Given the description of an element on the screen output the (x, y) to click on. 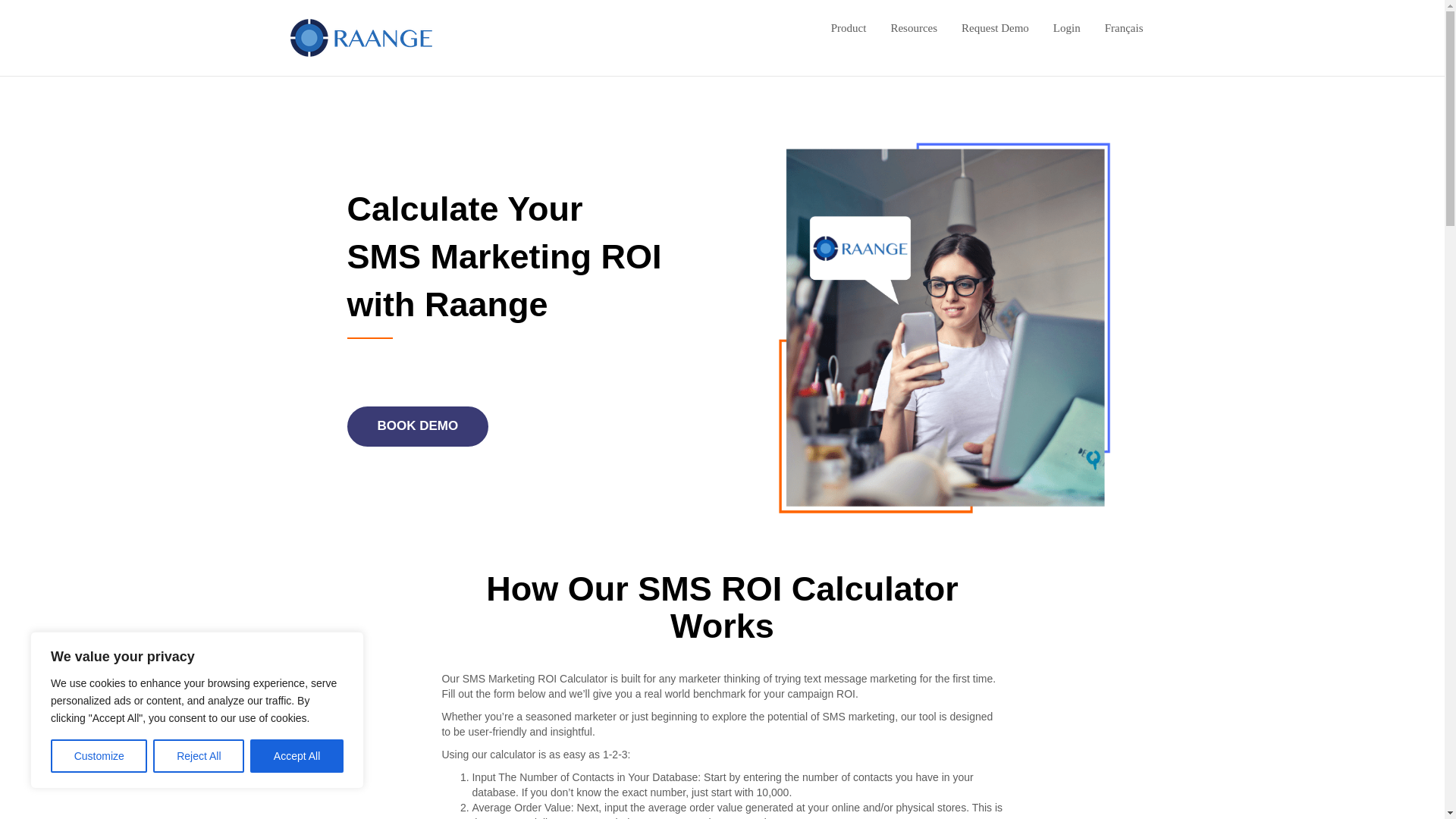
Accept All (296, 756)
Customize (98, 756)
Product (848, 27)
Reject All (198, 756)
